Given the description of an element on the screen output the (x, y) to click on. 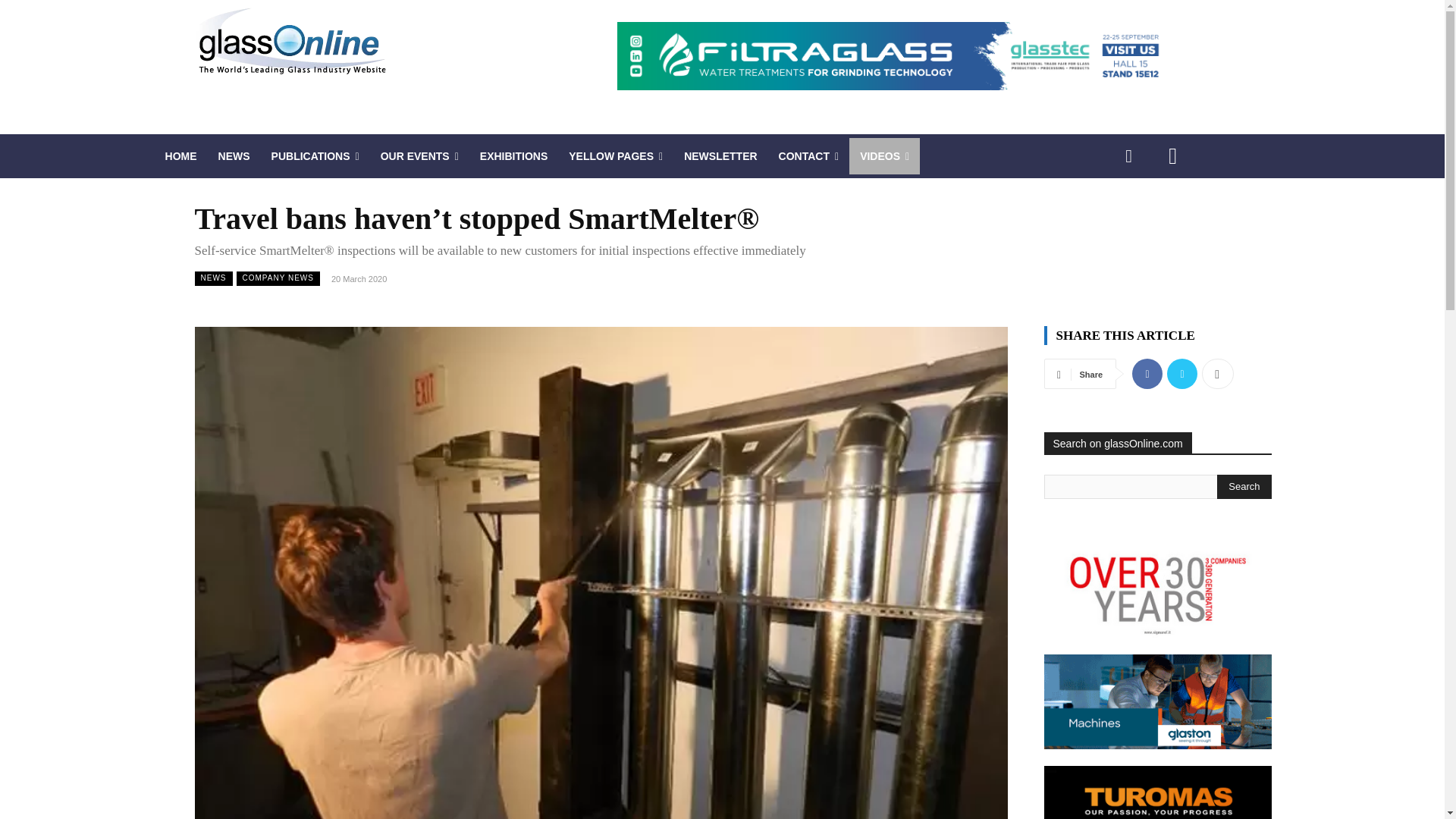
Linkedin (1128, 156)
Search (1244, 486)
Youtube (1172, 156)
